Given the description of an element on the screen output the (x, y) to click on. 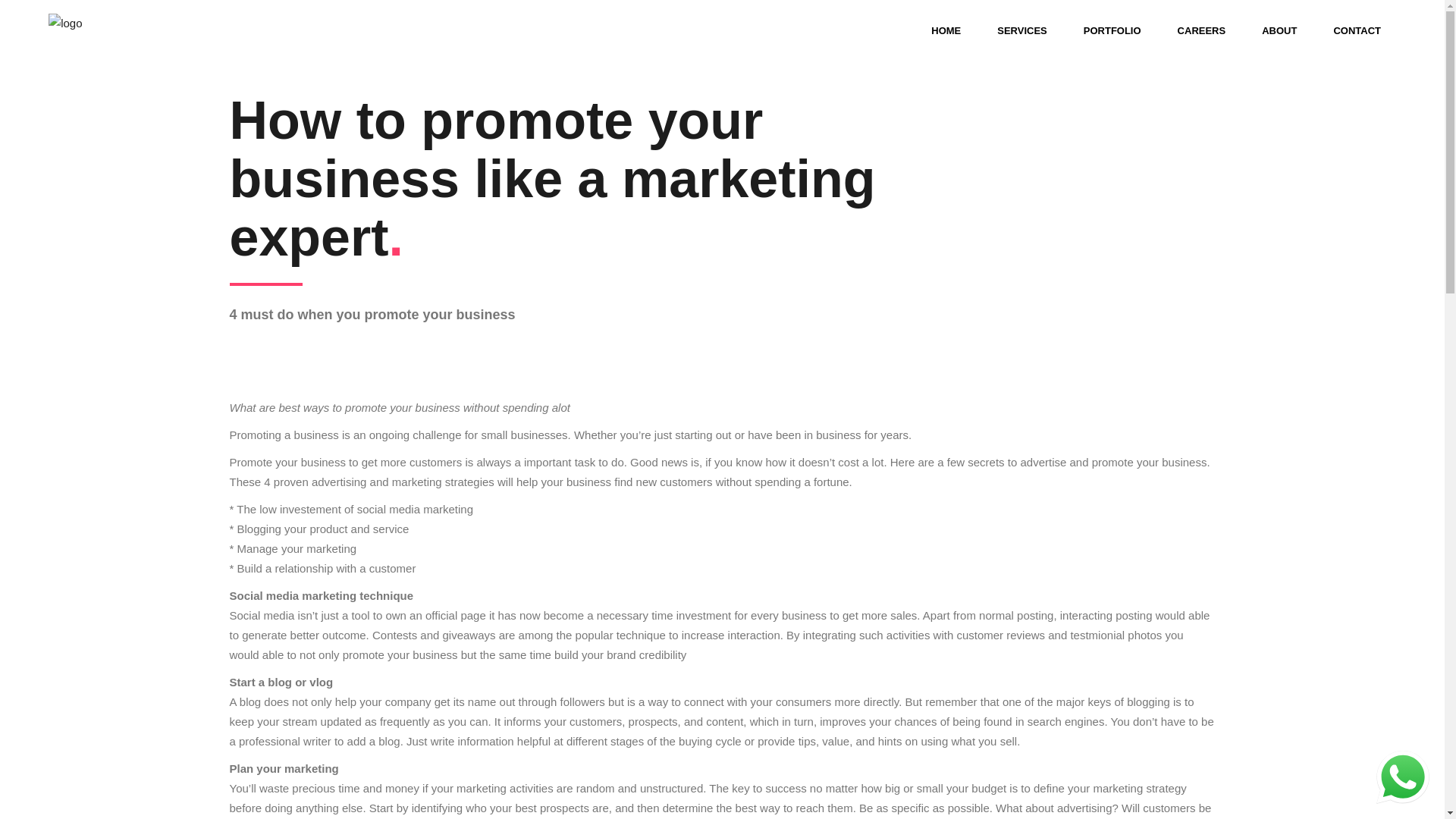
SERVICES (1021, 30)
PORTFOLIO (1111, 30)
CAREERS (1201, 30)
CONTACT (1356, 30)
HOME (945, 30)
ABOUT (1278, 30)
